Given the description of an element on the screen output the (x, y) to click on. 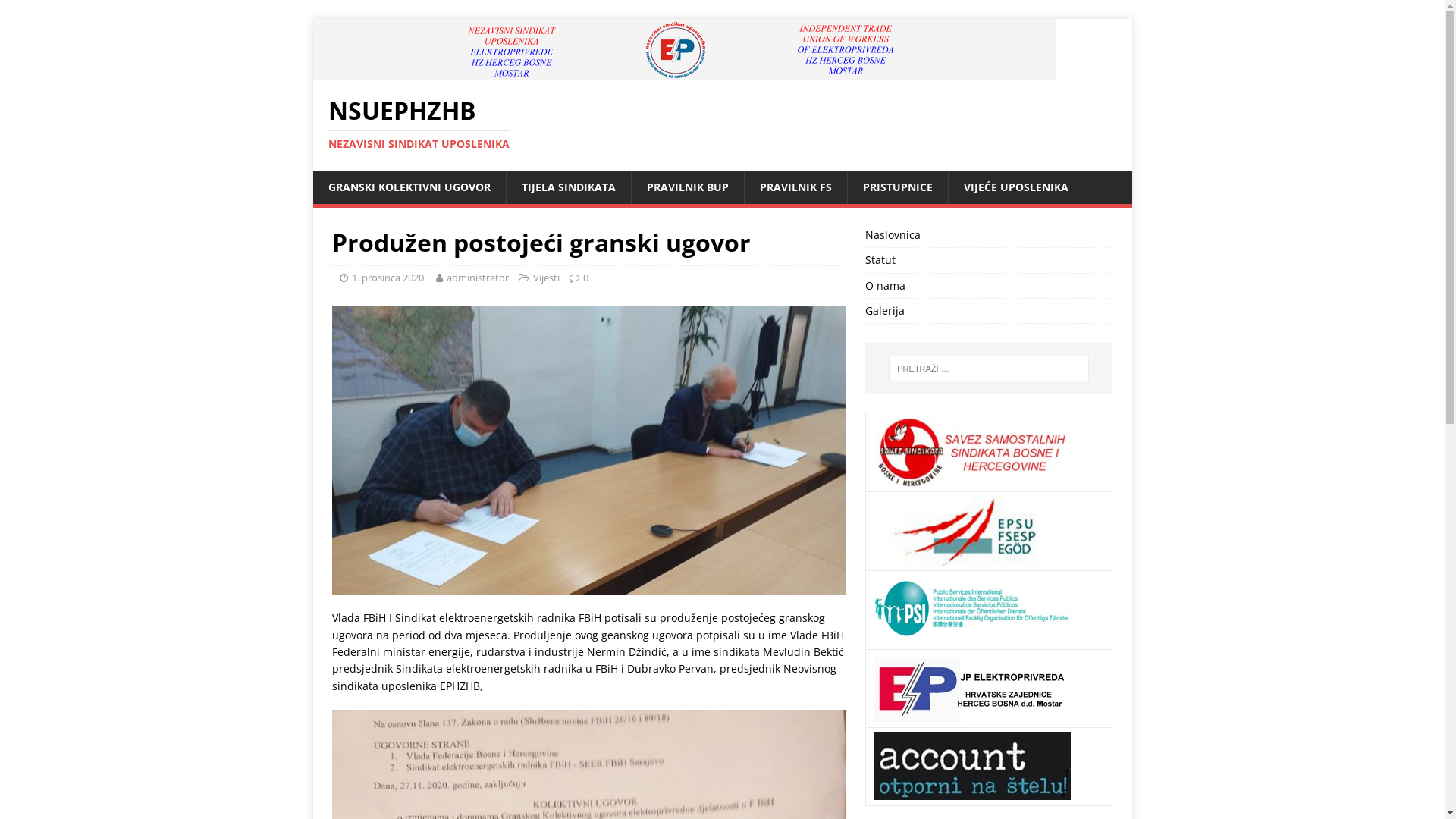
IMG-20201130-WA0002 Element type: hover (589, 449)
PRISTUPNICE Element type: text (896, 187)
Statut Element type: text (988, 259)
NSUEPHZHB Element type: hover (683, 70)
NSUEPHZHB
NEZAVISNI SINDIKAT UPOSLENIKA Element type: text (721, 124)
0 Element type: text (584, 277)
PRAVILNIK BUP Element type: text (686, 187)
administrator Element type: text (476, 277)
1. prosinca 2020. Element type: text (388, 277)
Naslovnica Element type: text (988, 236)
PRAVILNIK FS Element type: text (794, 187)
GRANSKI KOLEKTIVNI UGOVOR Element type: text (408, 187)
Galerija Element type: text (988, 310)
O nama Element type: text (988, 285)
Vijesti Element type: text (545, 277)
TIJELA SINDIKATA Element type: text (567, 187)
